Given the description of an element on the screen output the (x, y) to click on. 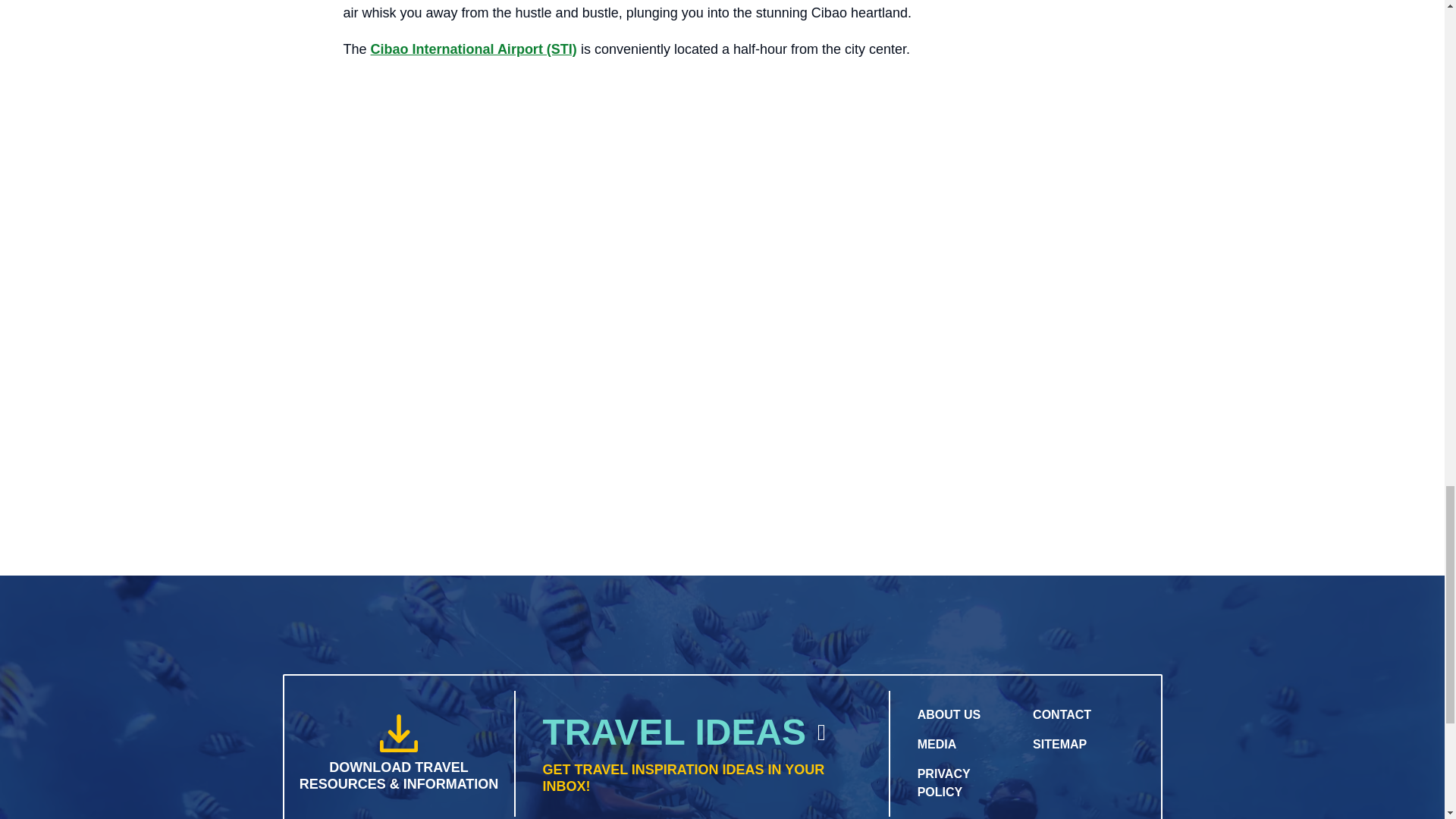
About Us (949, 714)
Contact (1061, 714)
